Given the description of an element on the screen output the (x, y) to click on. 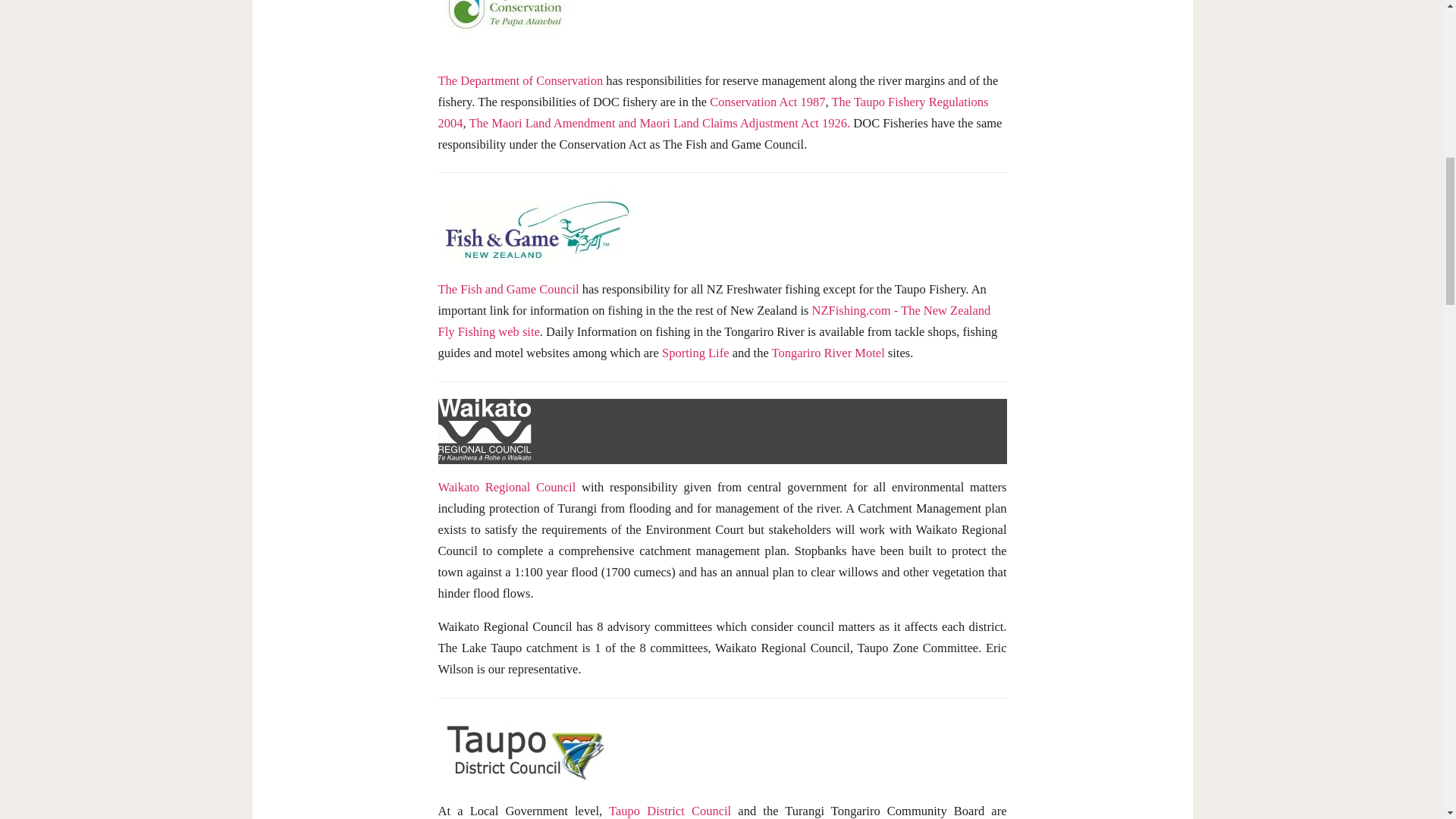
Conservation Act 1987 (767, 101)
TDC (669, 810)
New Zealand Fly Fishing web site (714, 321)
Waikato Regional Council (507, 486)
Fish and Game (508, 288)
Sporting Life (695, 352)
DoC (521, 79)
Tongariro River Motel (826, 352)
